Given the description of an element on the screen output the (x, y) to click on. 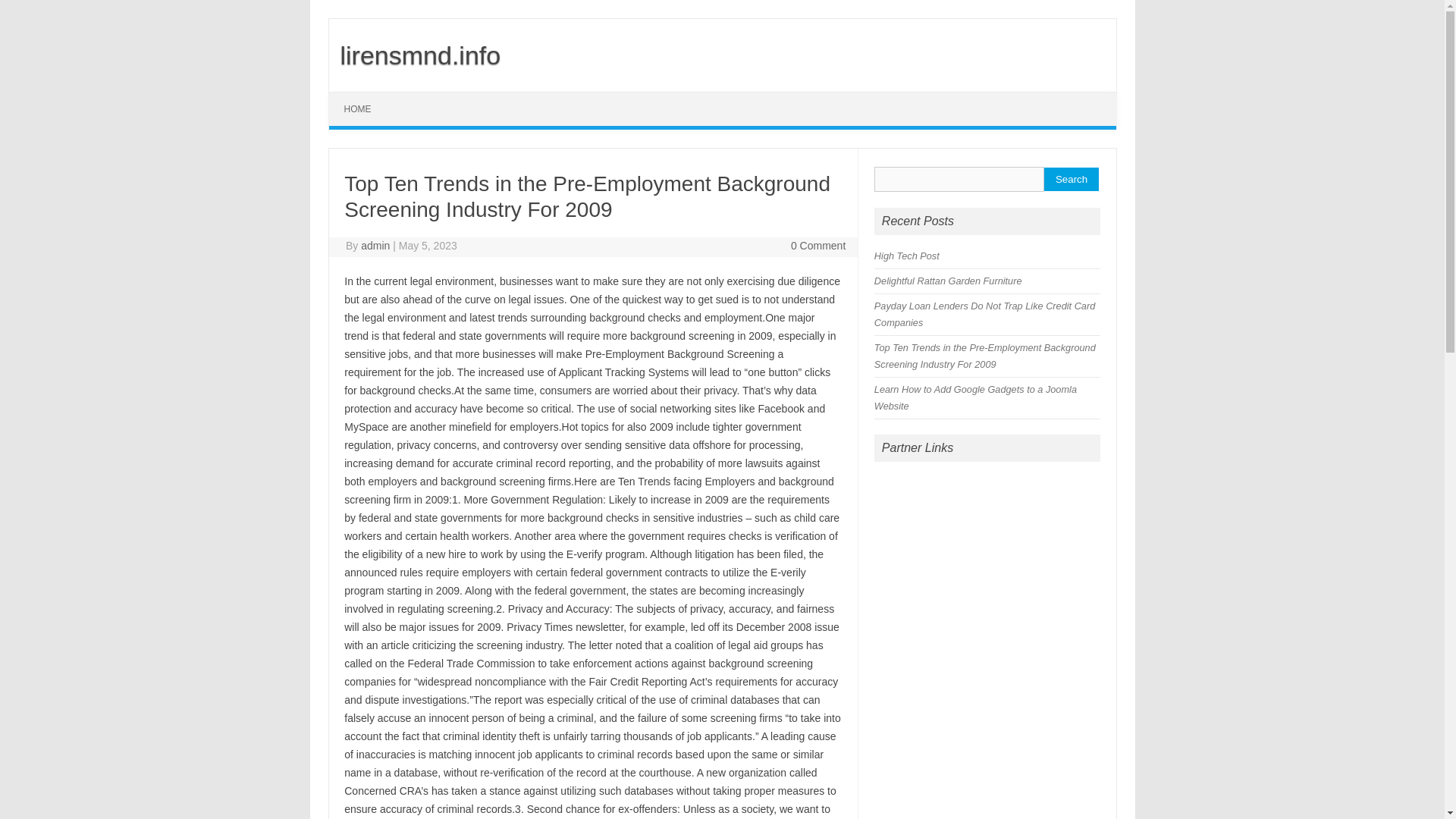
Skip to content (363, 96)
High Tech Post (907, 255)
Learn How to Add Google Gadgets to a Joomla Website (976, 397)
lirensmnd.info (414, 54)
Delightful Rattan Garden Furniture (948, 280)
Posts by admin (375, 245)
0 Comment (817, 245)
HOME (358, 109)
Search (1070, 178)
Search (1070, 178)
